Given the description of an element on the screen output the (x, y) to click on. 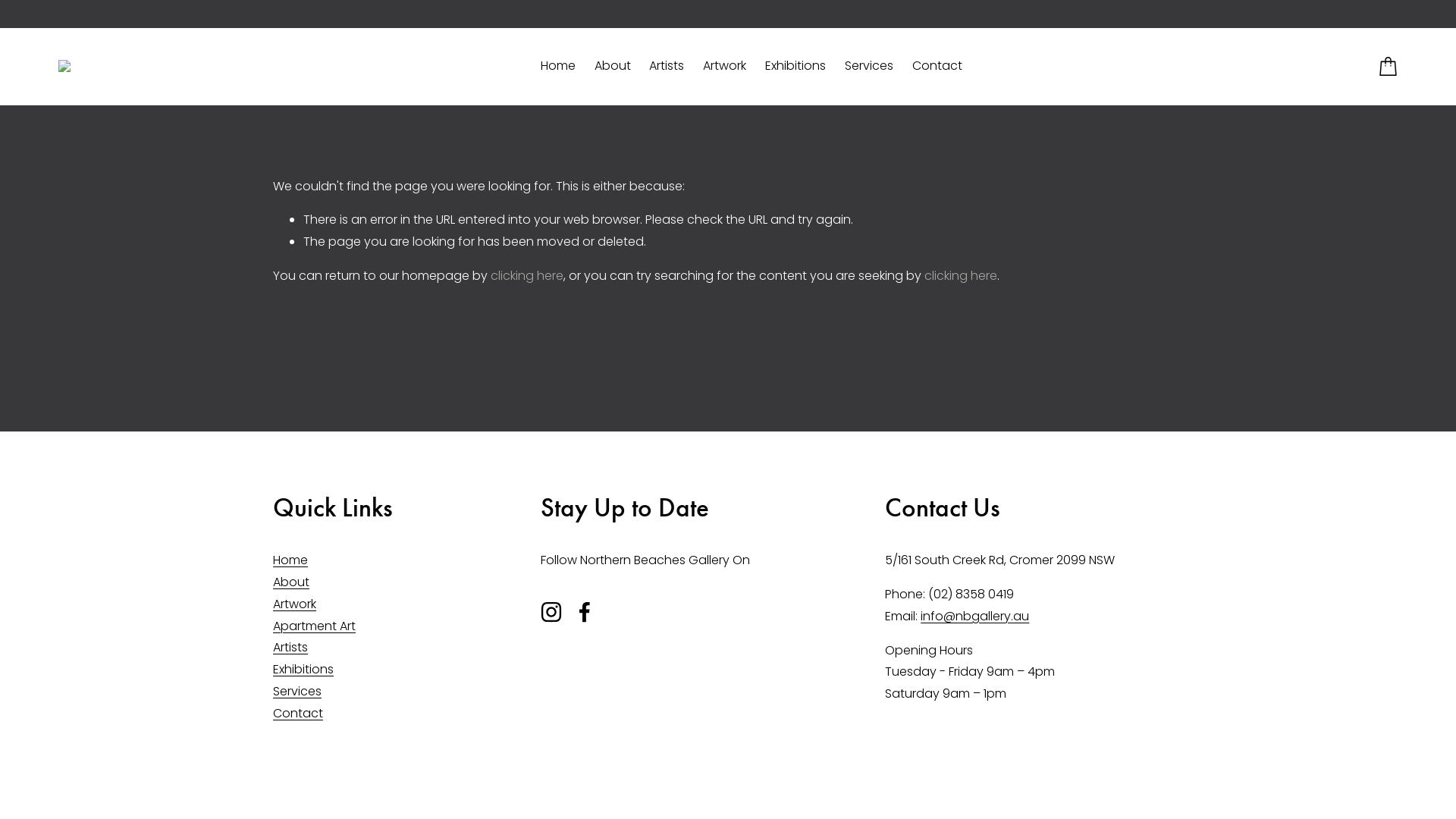
Exhibitions Element type: text (795, 65)
Services Element type: text (297, 691)
Contact Element type: text (298, 713)
Home Element type: text (290, 560)
info@nbgallery.au Element type: text (974, 616)
Home Element type: text (557, 65)
Artwork Element type: text (724, 65)
Artwork Element type: text (294, 604)
clicking here Element type: text (960, 275)
Artists Element type: text (290, 647)
Contact Element type: text (937, 65)
Artists Element type: text (666, 65)
clicking here Element type: text (526, 275)
Apartment Art Element type: text (314, 626)
About Element type: text (612, 65)
Services Element type: text (868, 65)
About Element type: text (291, 582)
Exhibitions Element type: text (303, 669)
